Given the description of an element on the screen output the (x, y) to click on. 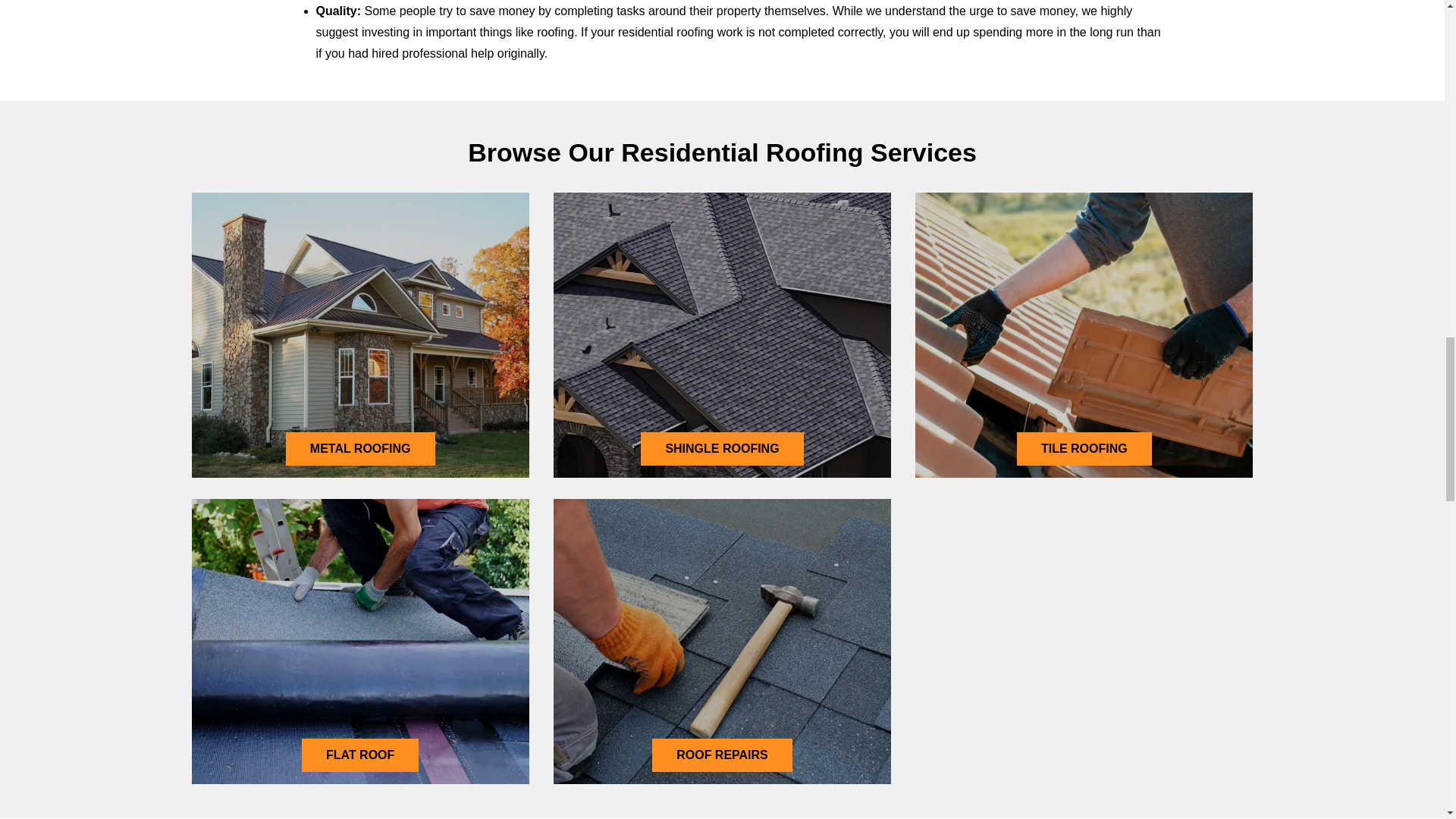
SHINGLE ROOFING (721, 449)
ROOF REPAIRS (722, 755)
METAL ROOFING (360, 449)
FLAT ROOF (360, 755)
TILE ROOFING (1083, 449)
